Given the description of an element on the screen output the (x, y) to click on. 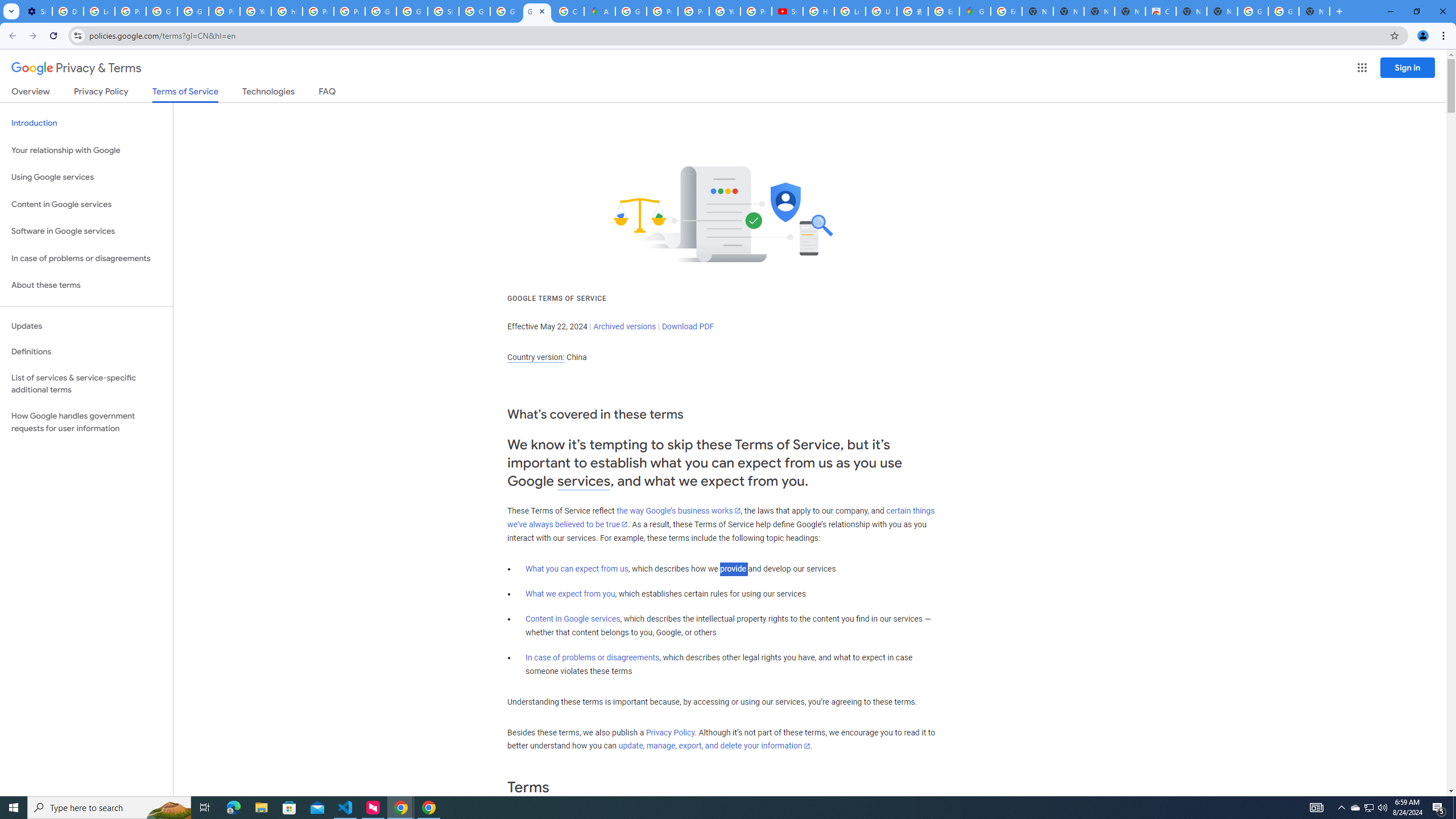
services (583, 480)
What you can expect from us (576, 568)
update, manage, export, and delete your information (714, 746)
YouTube (724, 11)
How Chrome protects your passwords - Google Chrome Help (818, 11)
Using Google services (86, 176)
About these terms (86, 284)
